Given the description of an element on the screen output the (x, y) to click on. 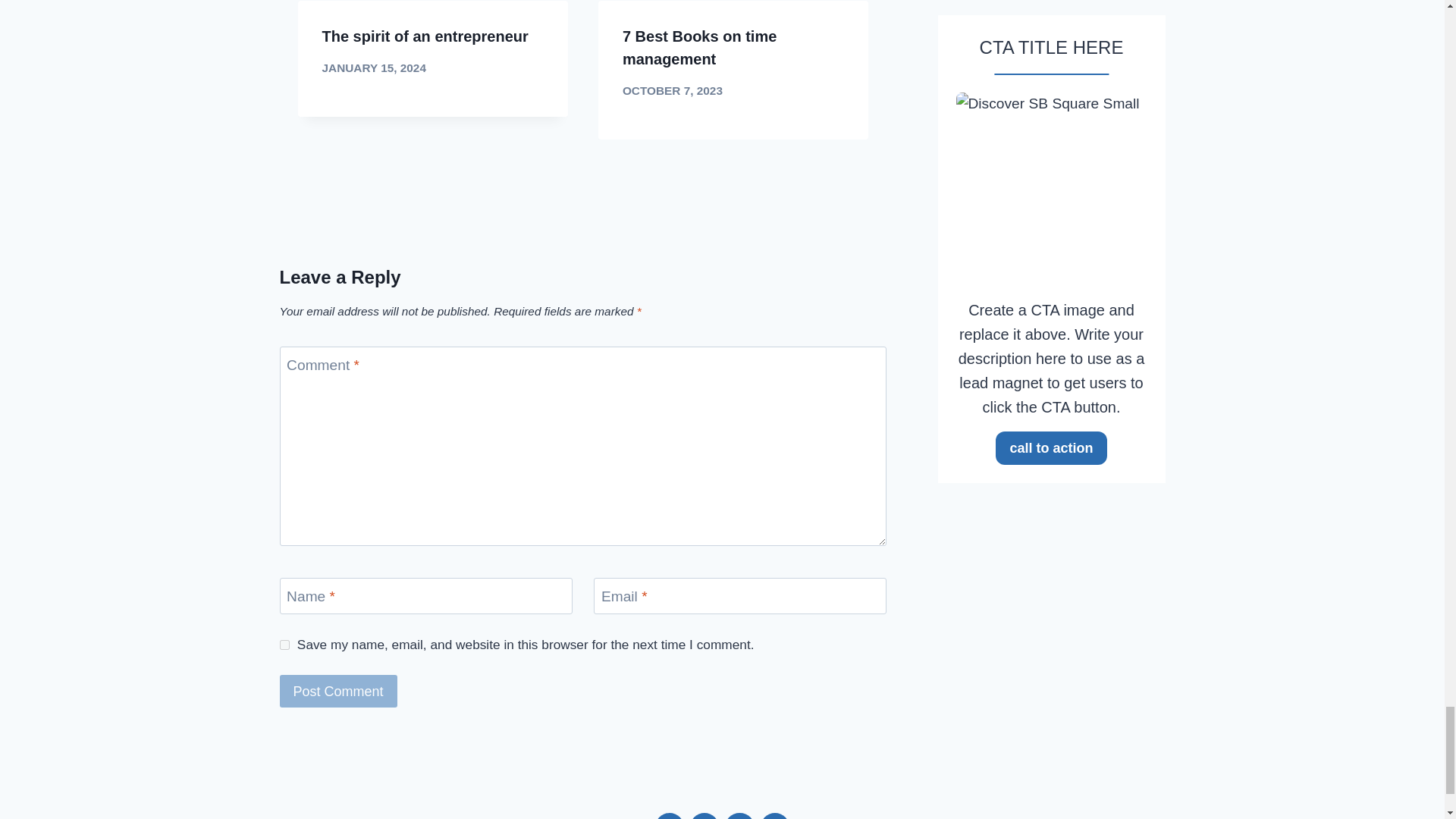
The spirit of an entrepreneur (424, 36)
7 Best Books on time management (699, 47)
Post Comment (337, 690)
yes (283, 644)
Post Comment (337, 690)
